Given the description of an element on the screen output the (x, y) to click on. 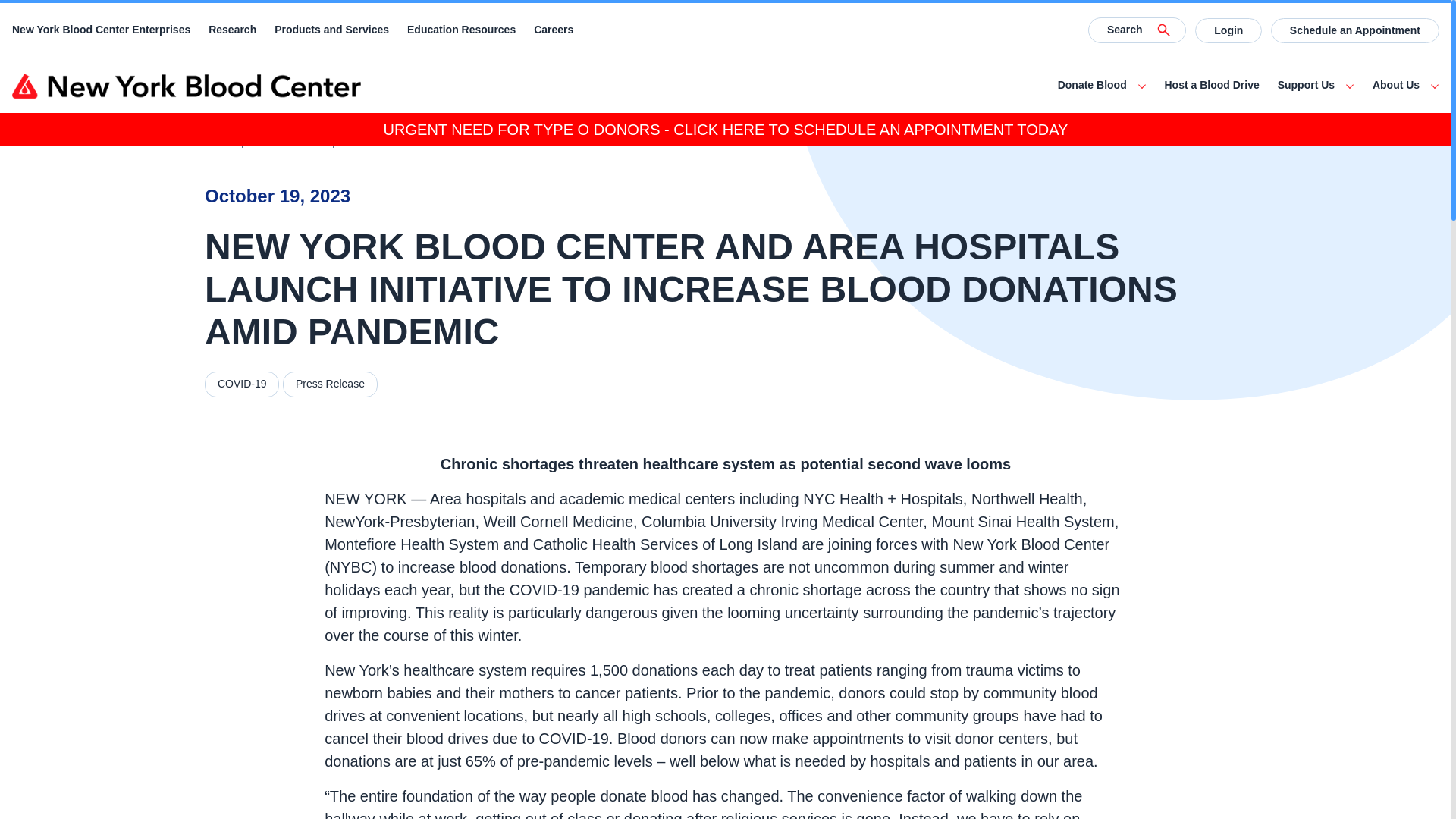
Research (232, 30)
Products and Services (331, 30)
Donate Blood (1092, 85)
Careers (553, 30)
Education Resources (461, 30)
Login (1228, 30)
Schedule an Appointment (1355, 30)
New York Blood Center Enterprises (100, 30)
